Given the description of an element on the screen output the (x, y) to click on. 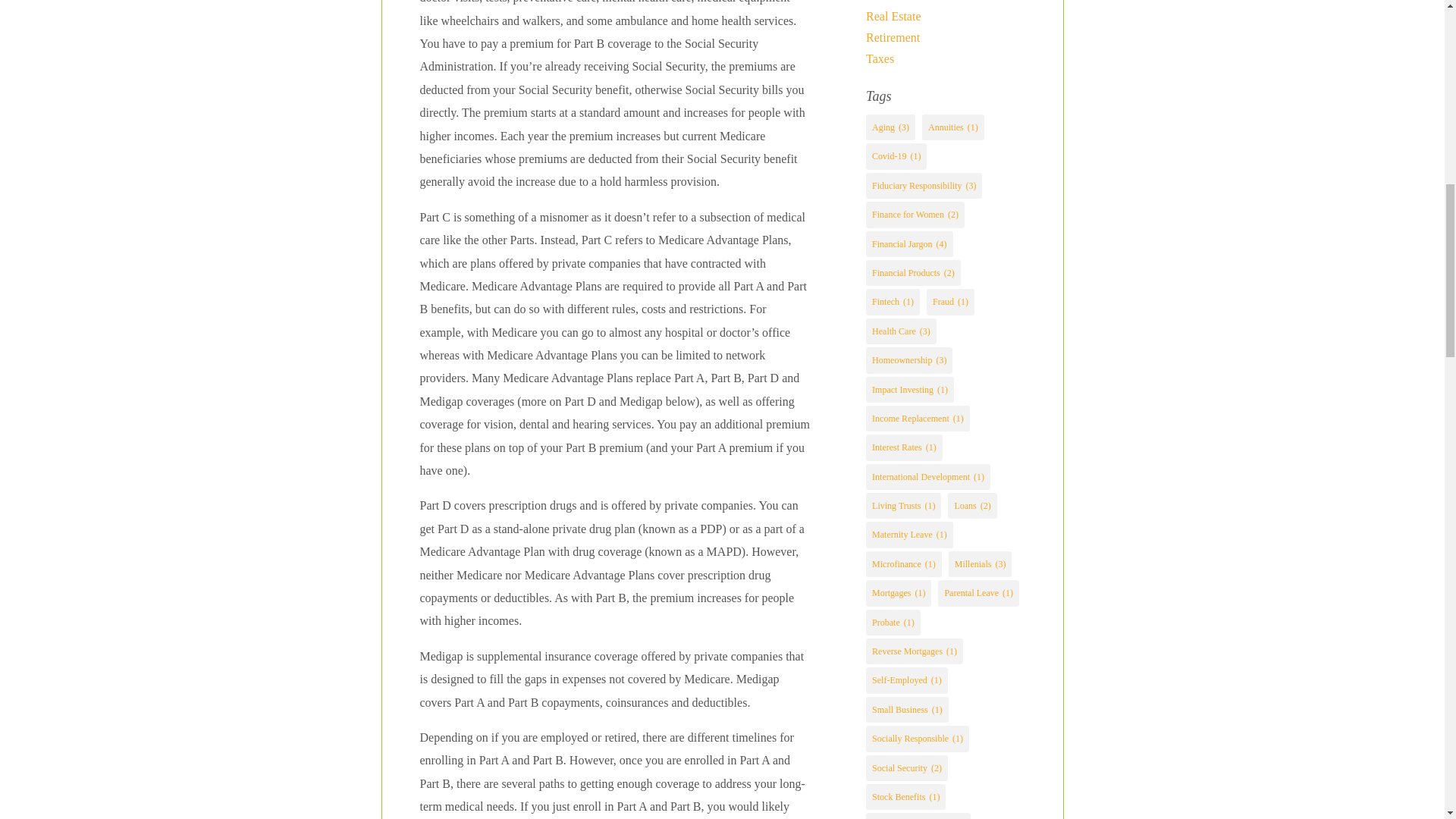
Microfinance (898, 0)
